Given the description of an element on the screen output the (x, y) to click on. 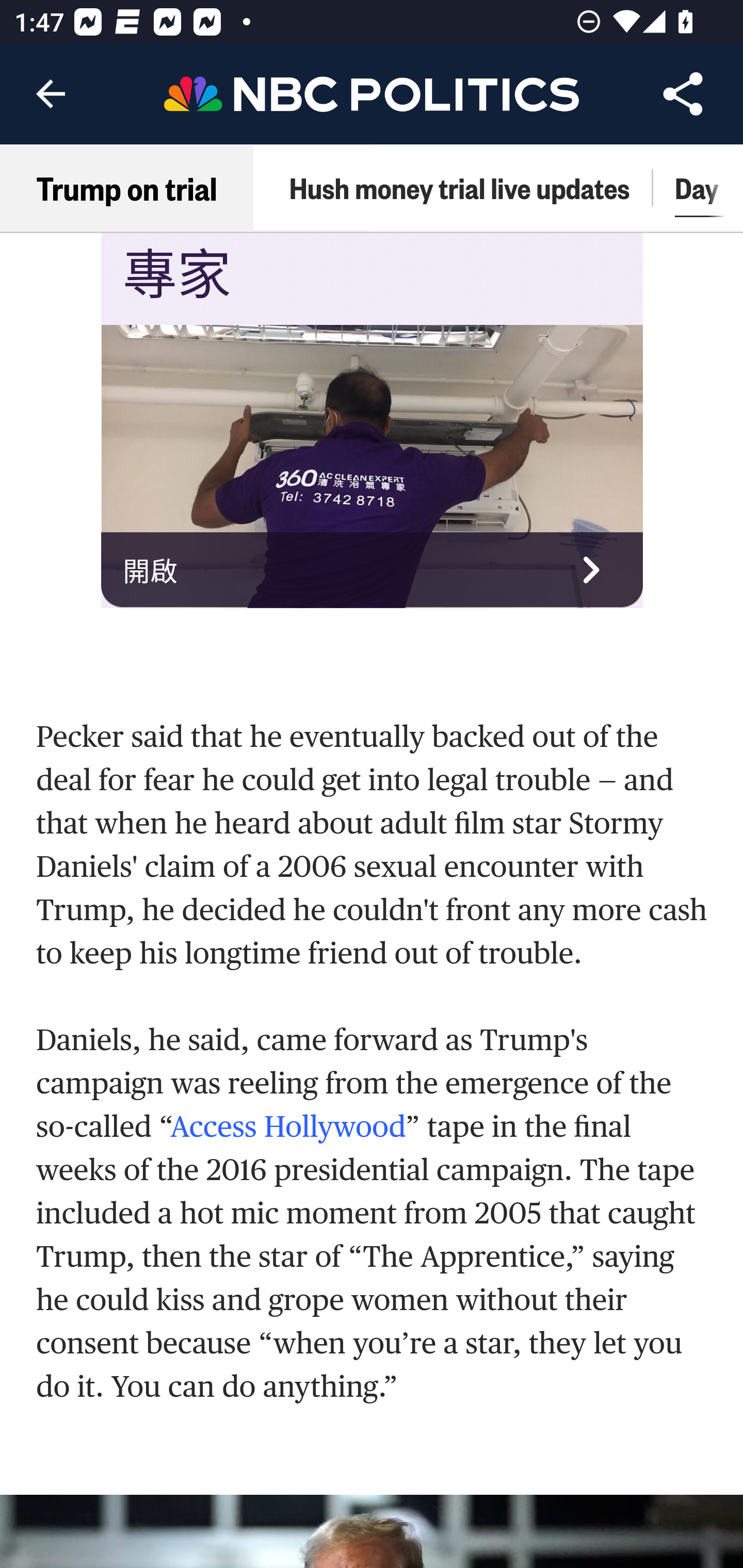
Navigate up (50, 93)
Share Article, button (683, 94)
Header, NBC Politics (371, 93)
Trump on trial (127, 187)
Hush money trial live updates (459, 187)
開啟 (372, 569)
Access Hollywood (287, 1127)
